Given the description of an element on the screen output the (x, y) to click on. 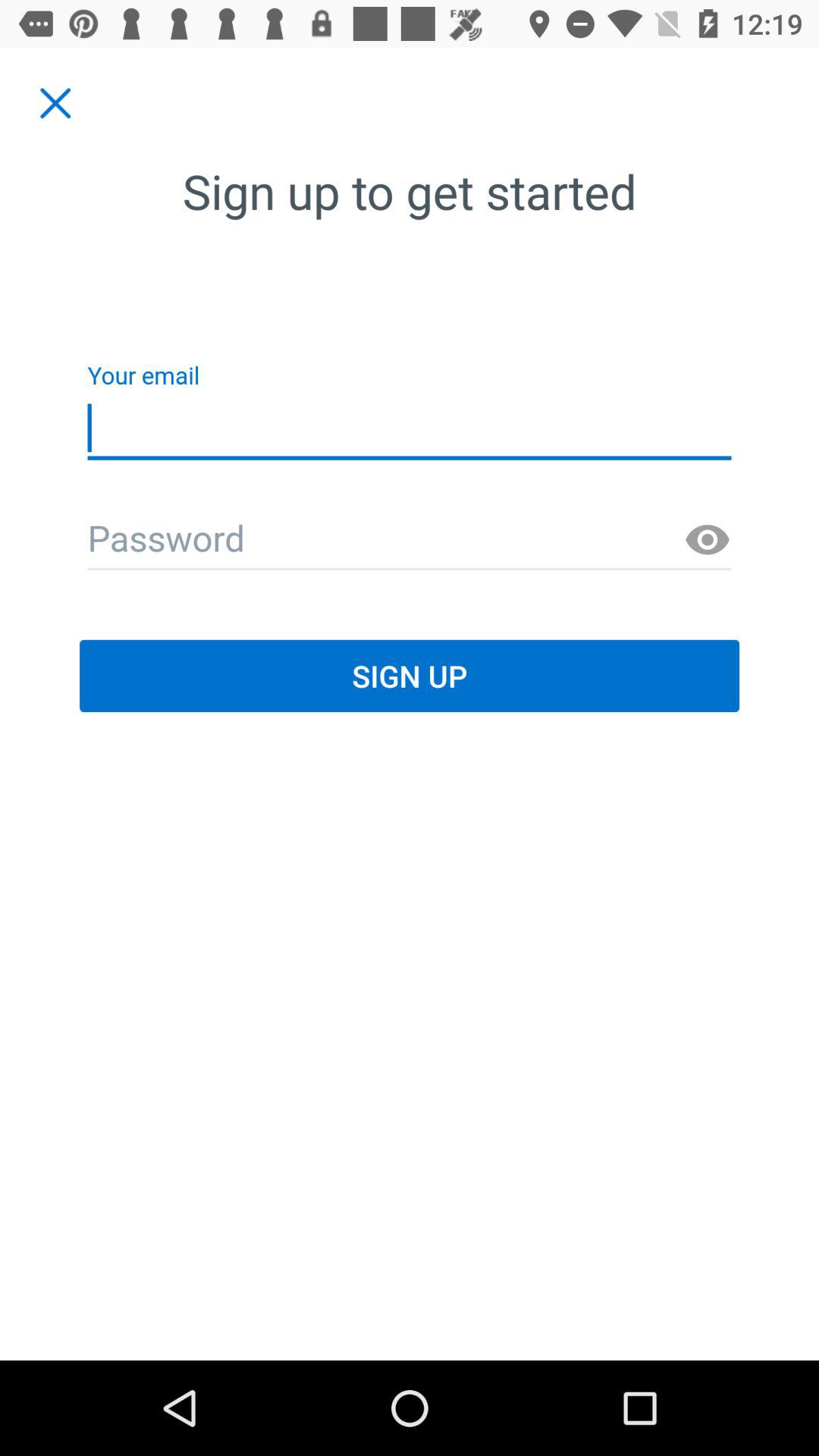
show the text (707, 540)
